Given the description of an element on the screen output the (x, y) to click on. 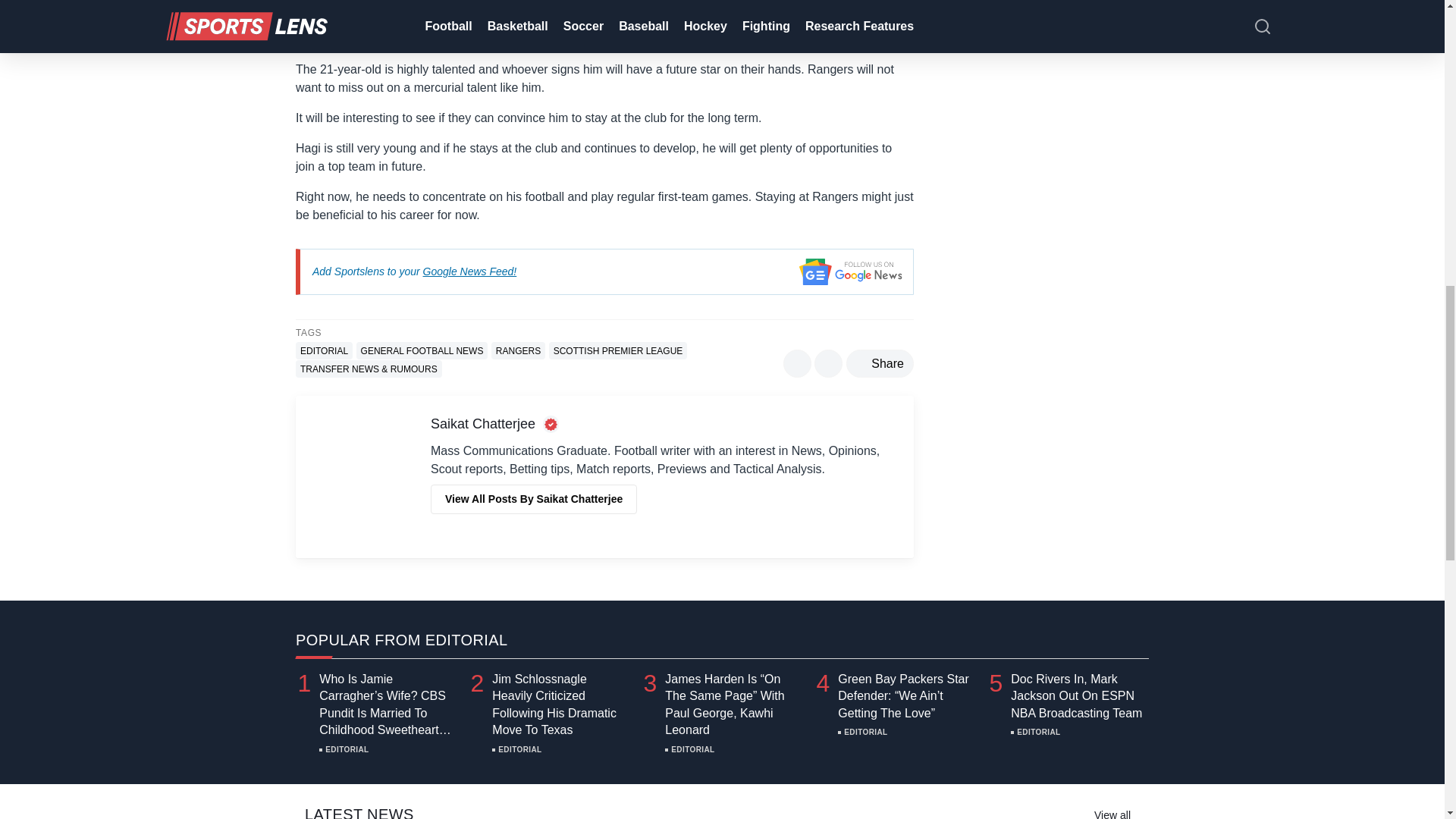
Share (879, 363)
GENERAL FOOTBALL NEWS (421, 350)
Daily Record (467, 20)
View All Posts By Saikat Chatterjee (533, 499)
Google News Feed! (469, 271)
RANGERS (518, 350)
EDITORIAL (323, 350)
SCOTTISH PREMIER LEAGUE (617, 350)
